Given the description of an element on the screen output the (x, y) to click on. 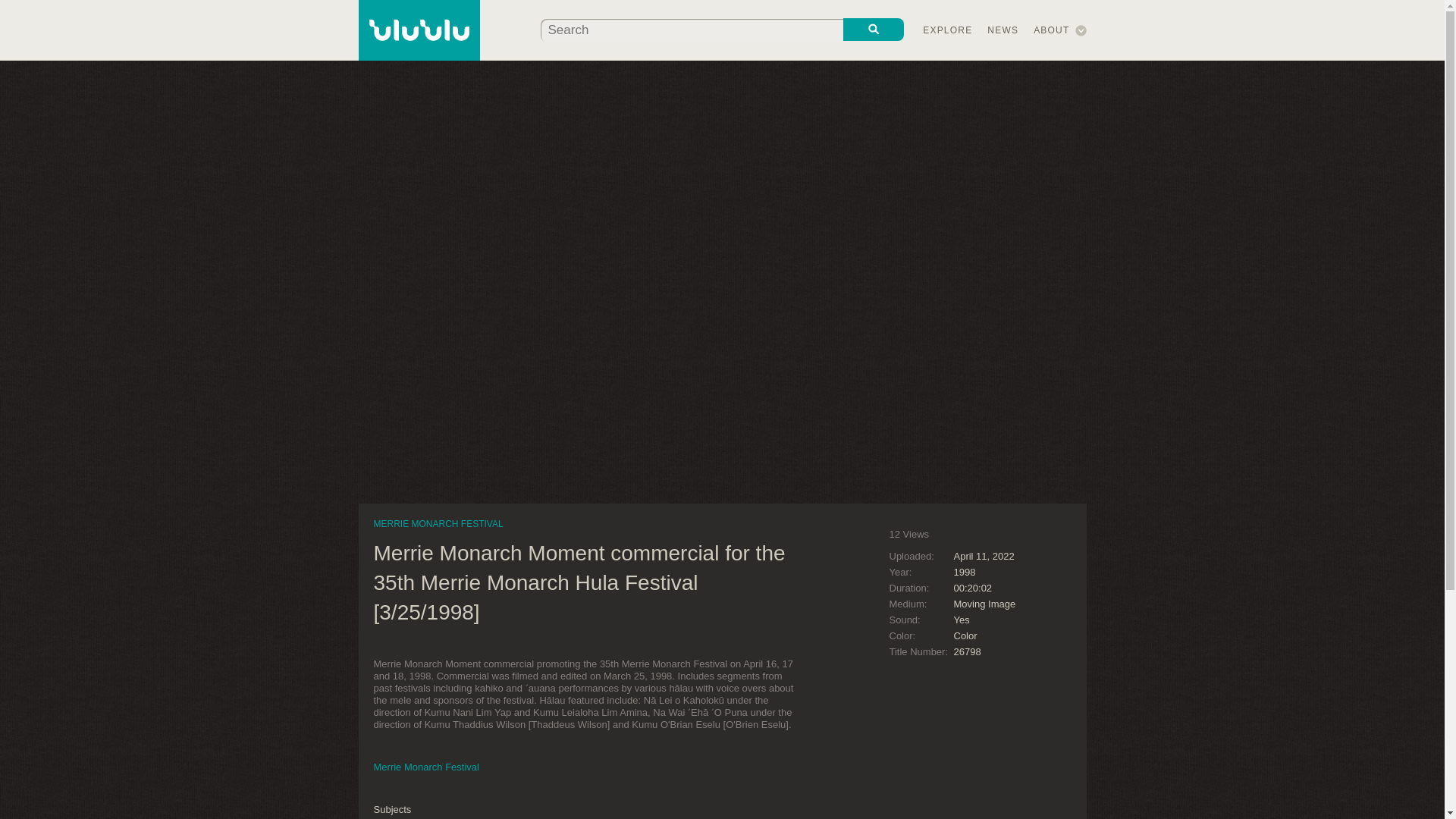
MERRIE MONARCH FESTIVAL (437, 523)
Recent archive news (1002, 30)
ABOUT (1050, 30)
NEWS (1002, 30)
submit (873, 29)
Browse our collections (947, 30)
EXPLORE (947, 30)
submit (873, 29)
Merrie Monarch Festival (425, 767)
Learn more about the archive (1050, 30)
